Given the description of an element on the screen output the (x, y) to click on. 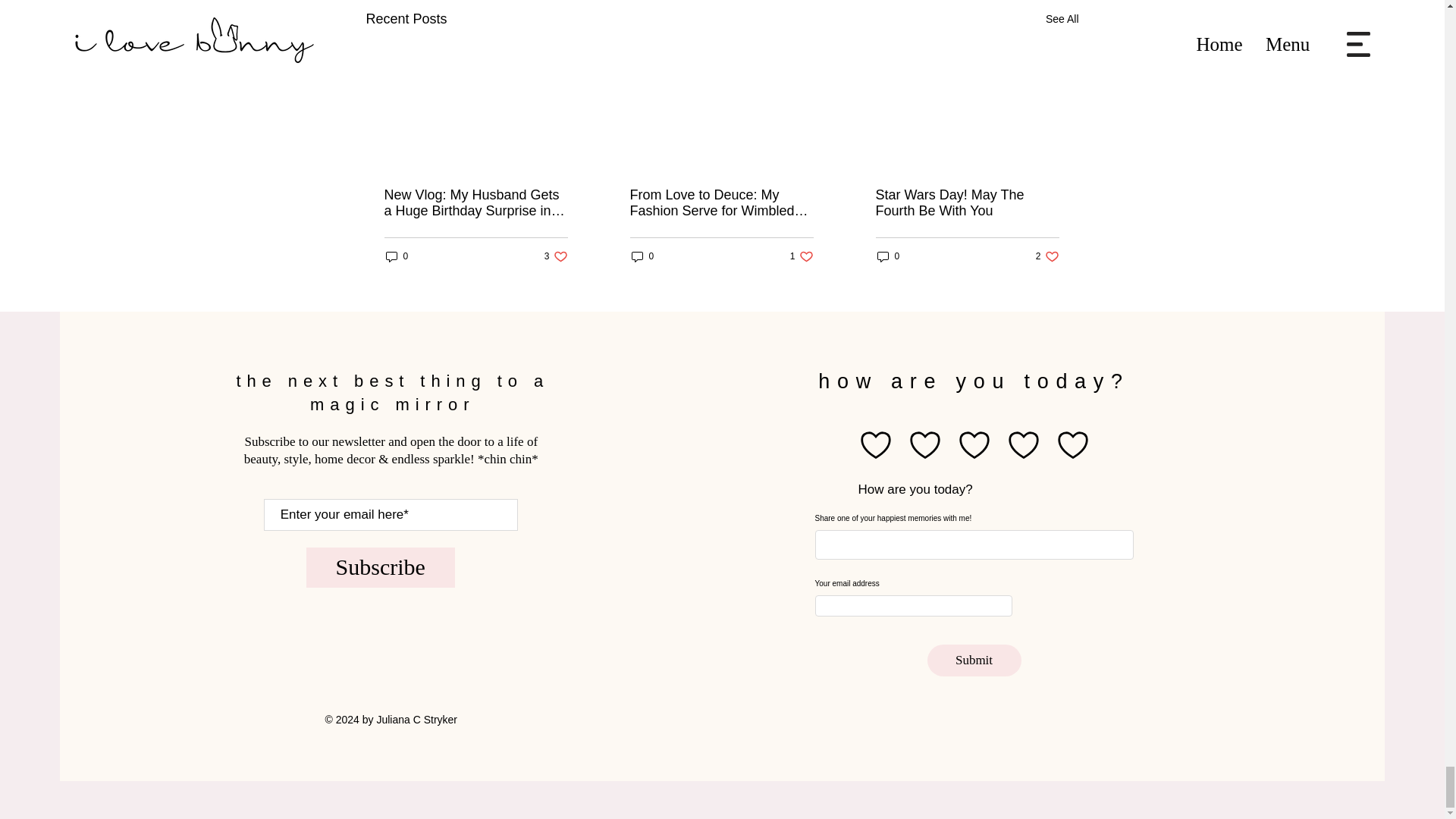
0 (641, 256)
0 (801, 256)
See All (555, 256)
